Given the description of an element on the screen output the (x, y) to click on. 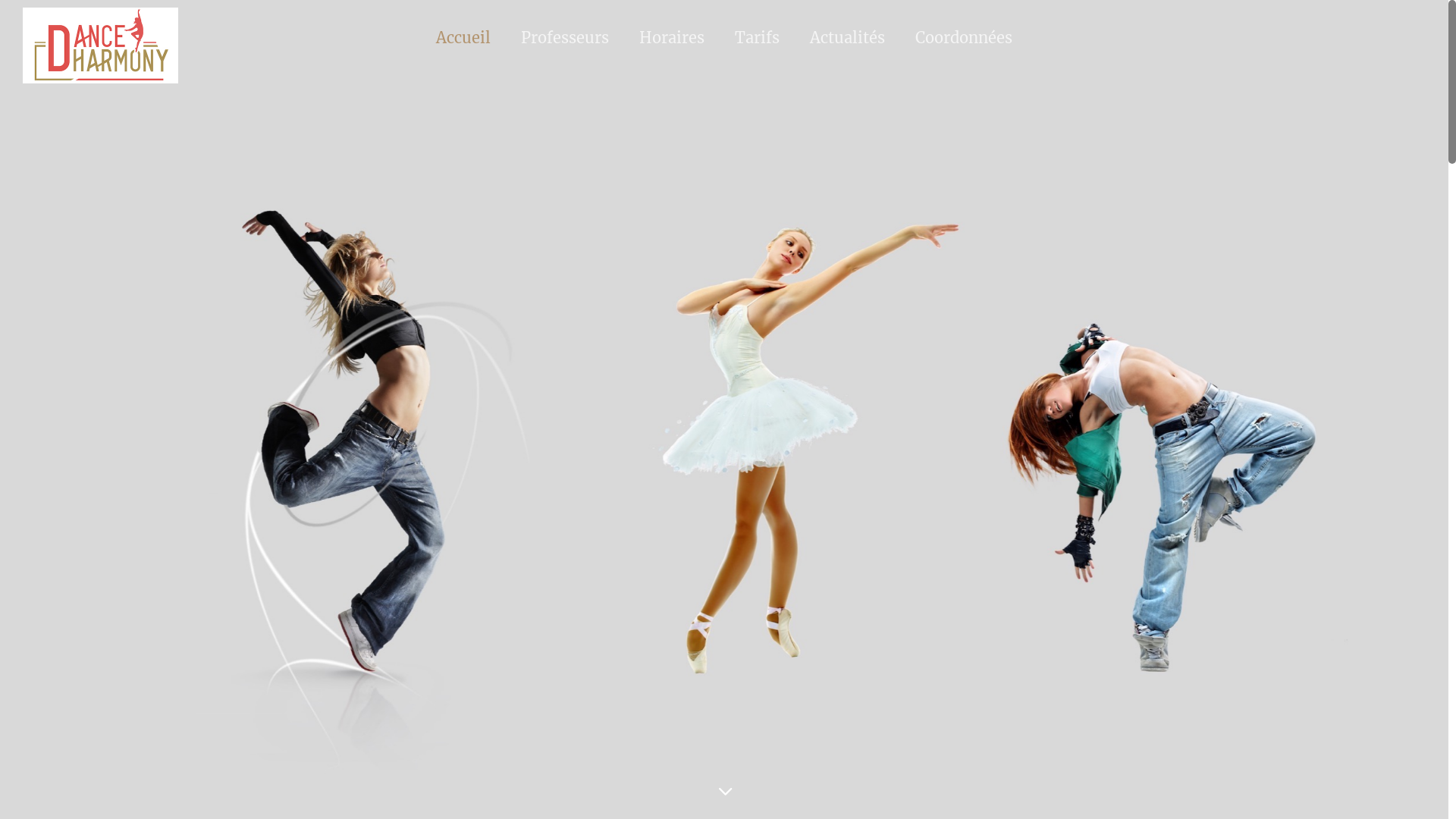
Professeurs Element type: text (564, 37)
Horaires Element type: text (671, 37)
Tarifs Element type: text (756, 37)
Accueil Element type: text (462, 37)
